Given the description of an element on the screen output the (x, y) to click on. 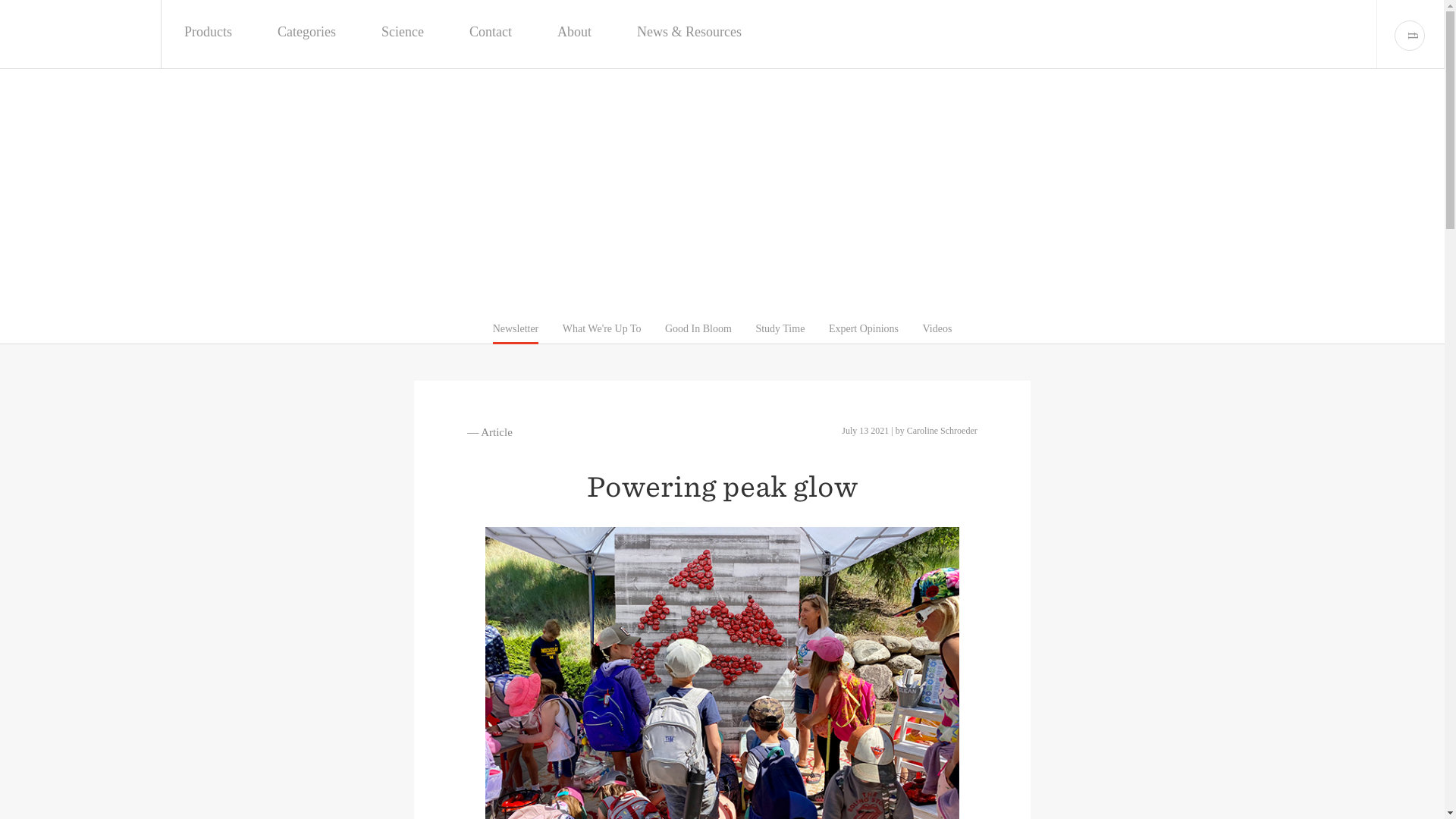
Products (207, 31)
Categories (306, 31)
Products (207, 31)
